Given the description of an element on the screen output the (x, y) to click on. 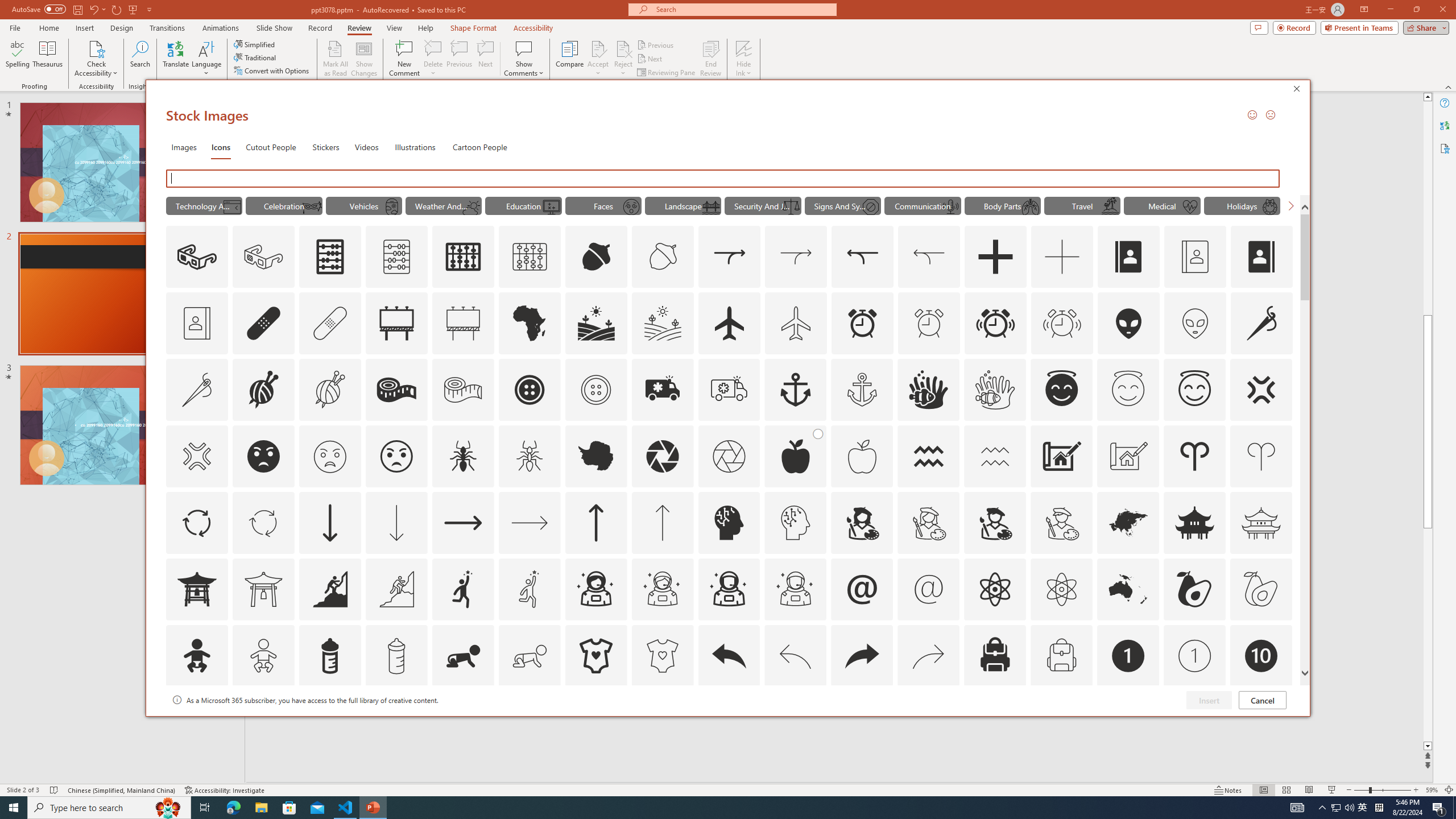
"Communication" Icons. (921, 205)
AutomationID: Icons_Back_LTR_M (795, 655)
"Weather And Seasons" Icons. (443, 205)
AutomationID: Icons_WreathHoliday_M (1269, 206)
AutomationID: Icons_Apple_M (861, 455)
AutomationID: Icons_Airplane (729, 323)
AutomationID: Icons_AlterationsTailoring1 (263, 389)
AutomationID: _134_Angel_Face_A (1061, 388)
AutomationID: Icons_Avocado_M (1260, 588)
